Given the description of an element on the screen output the (x, y) to click on. 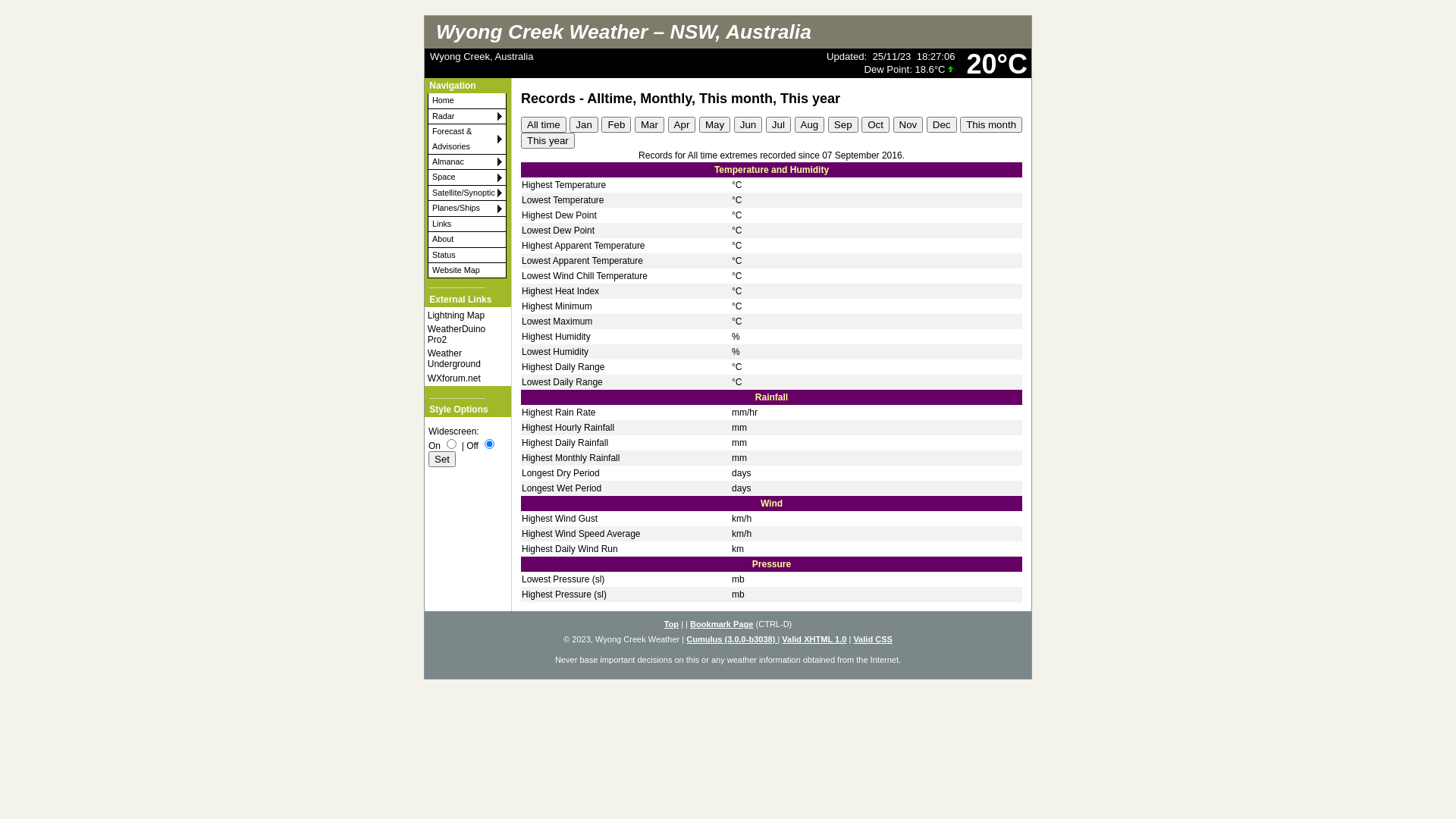
Website Map Element type: text (466, 270)
Planes/Ships Element type: text (466, 208)
Sep Element type: text (843, 124)
Oct Element type: text (875, 124)
Almanac Element type: text (466, 161)
Top Element type: text (671, 623)
About Element type: text (466, 239)
Jun Element type: text (748, 124)
Bookmark Page Element type: text (721, 623)
Apr Element type: text (682, 124)
WeatherDuino Pro2 Element type: text (460, 334)
Satellite/Synoptic Element type: text (466, 192)
Aug Element type: text (809, 124)
WXforum.net Element type: text (460, 377)
Cumulus (3.0.0-b3038) Element type: text (731, 638)
Space Element type: text (466, 177)
Jul Element type: text (777, 124)
This month Element type: text (991, 124)
Mar Element type: text (649, 124)
Valid XHTML 1.0 Element type: text (813, 638)
Valid CSS Element type: text (872, 638)
Weather Underground Element type: text (460, 359)
Nov Element type: text (908, 124)
Status Element type: text (466, 255)
Forecast & Advisories Element type: text (466, 139)
All time Element type: text (543, 124)
Dec Element type: text (941, 124)
Radar Element type: text (466, 116)
This year Element type: text (547, 140)
Feb Element type: text (615, 124)
Home Element type: text (466, 100)
Links Element type: text (466, 224)
Set Element type: text (441, 459)
May Element type: text (714, 124)
Lightning Map Element type: text (460, 314)
Jan Element type: text (583, 124)
